Given the description of an element on the screen output the (x, y) to click on. 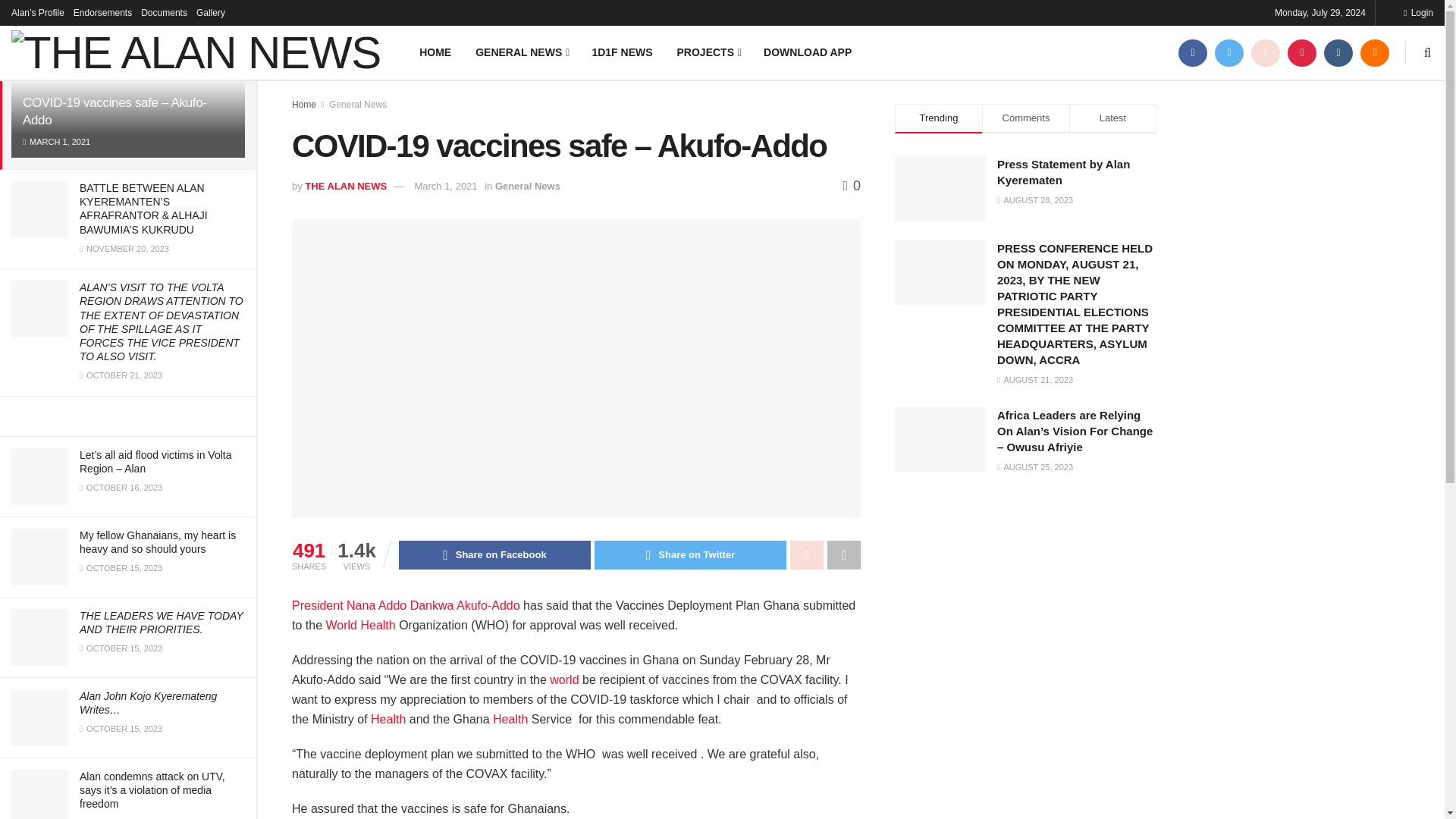
Filter (227, 13)
Login (1417, 12)
Gallery (210, 12)
My fellow Ghanaians, my heart is heavy and so should yours (157, 542)
THE LEADERS WE HAVE TODAY AND THEIR PRIORITIES. (161, 622)
HOME (435, 52)
Endorsements (103, 12)
GENERAL NEWS (521, 52)
Documents (164, 12)
